Given the description of an element on the screen output the (x, y) to click on. 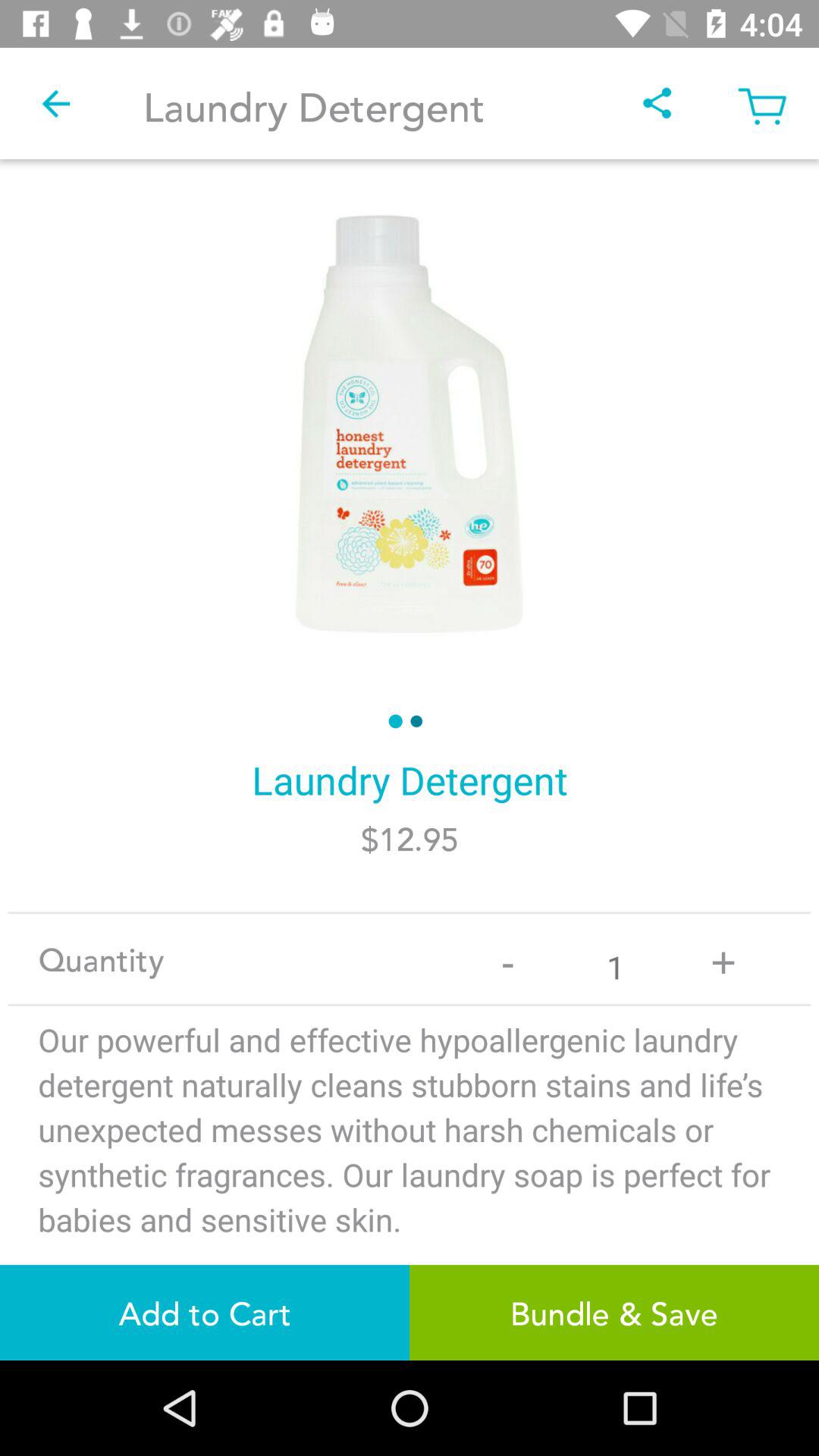
jump until bundle & save (614, 1312)
